Given the description of an element on the screen output the (x, y) to click on. 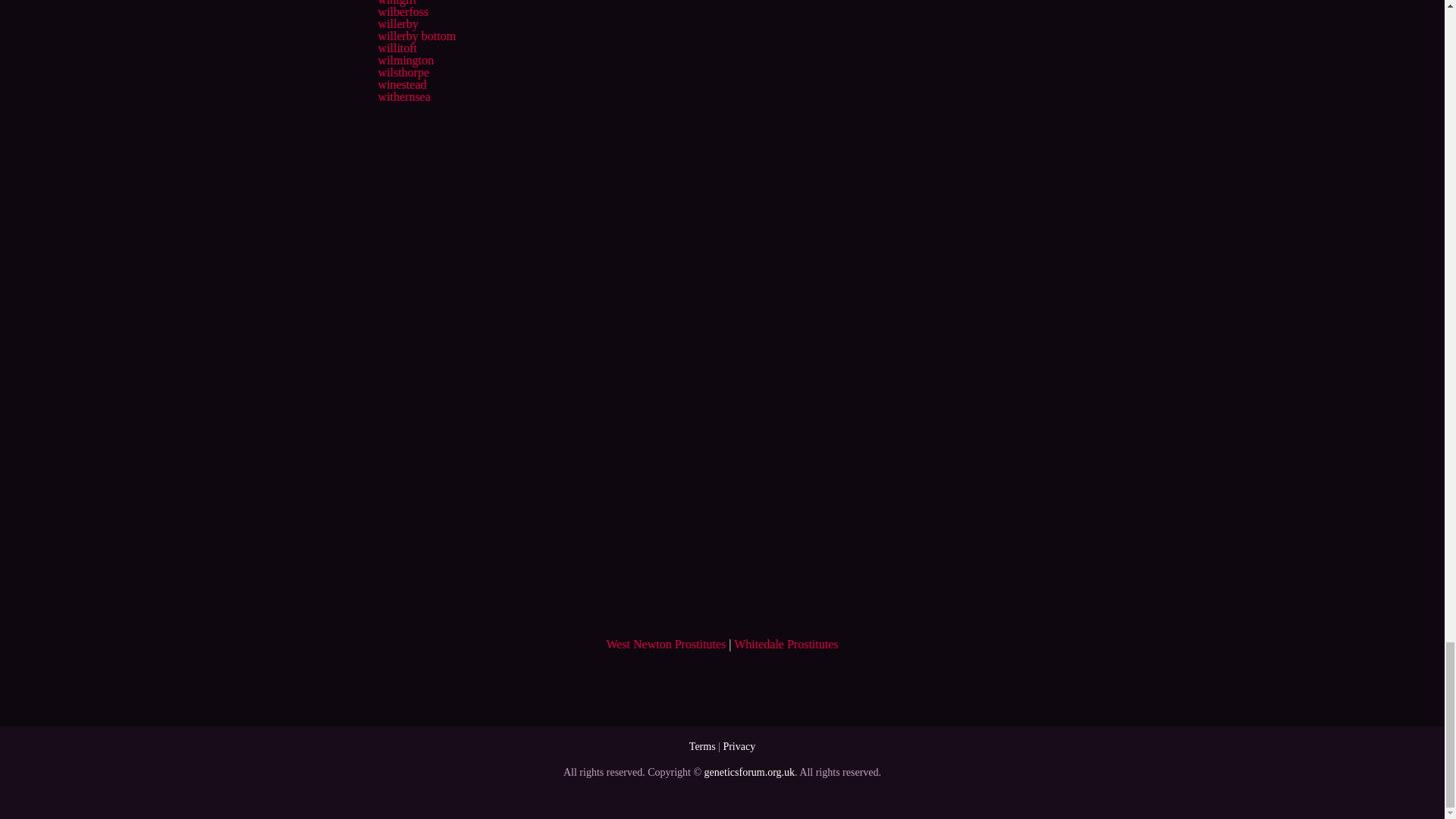
West Newton Prostitutes (665, 644)
Terms (702, 746)
Whitedale Prostitutes (785, 644)
willerby (397, 23)
geneticsforum.org.uk (749, 772)
willitoft (396, 47)
wilsthorpe (403, 72)
winestead (401, 83)
whitgift (396, 2)
Terms (702, 746)
